Given the description of an element on the screen output the (x, y) to click on. 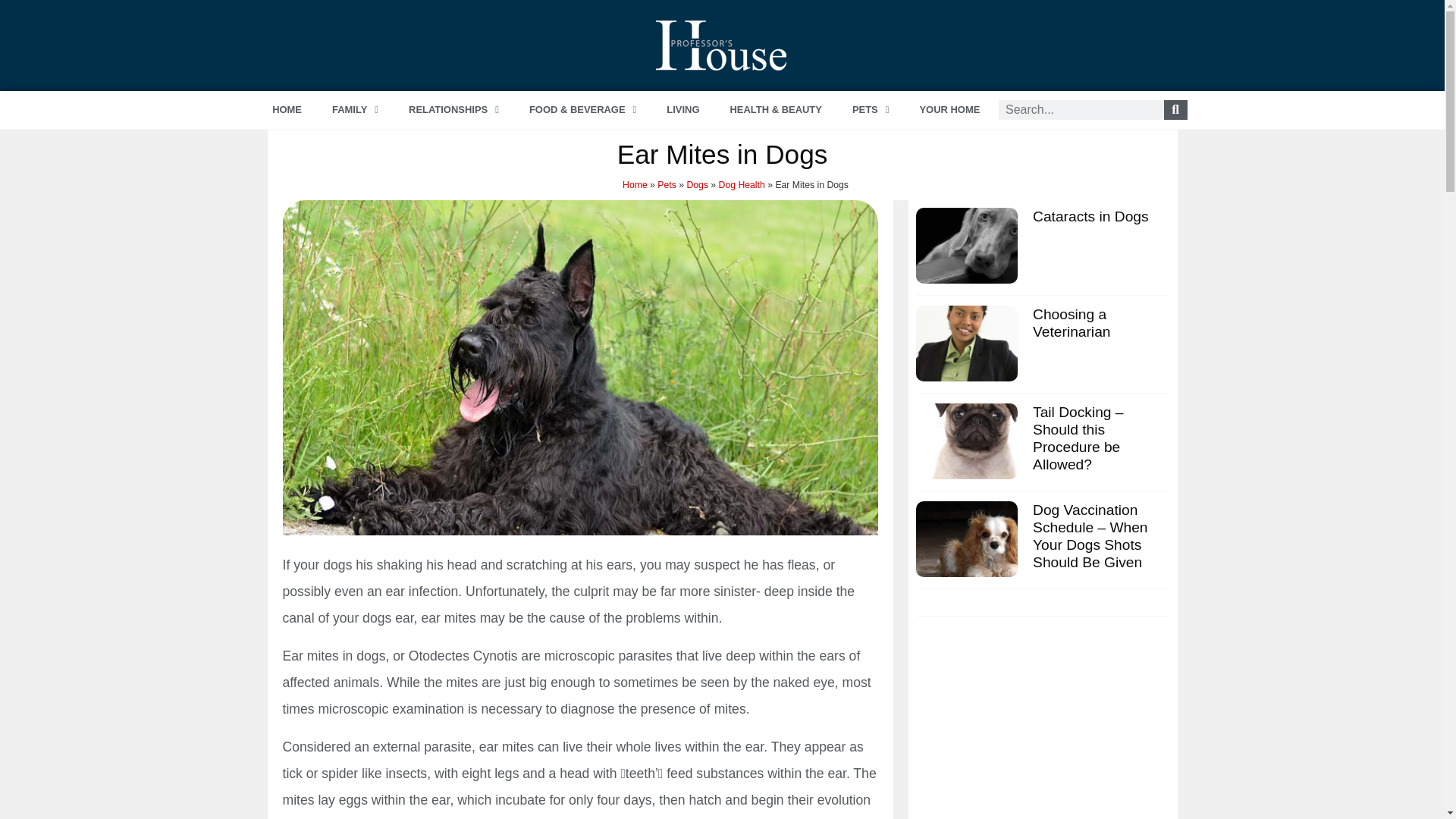
Advertisement (1042, 734)
HOME (287, 109)
RELATIONSHIPS (453, 109)
FAMILY (355, 109)
PETS (870, 109)
YOUR HOME (949, 109)
LIVING (682, 109)
Family (355, 109)
